Given the description of an element on the screen output the (x, y) to click on. 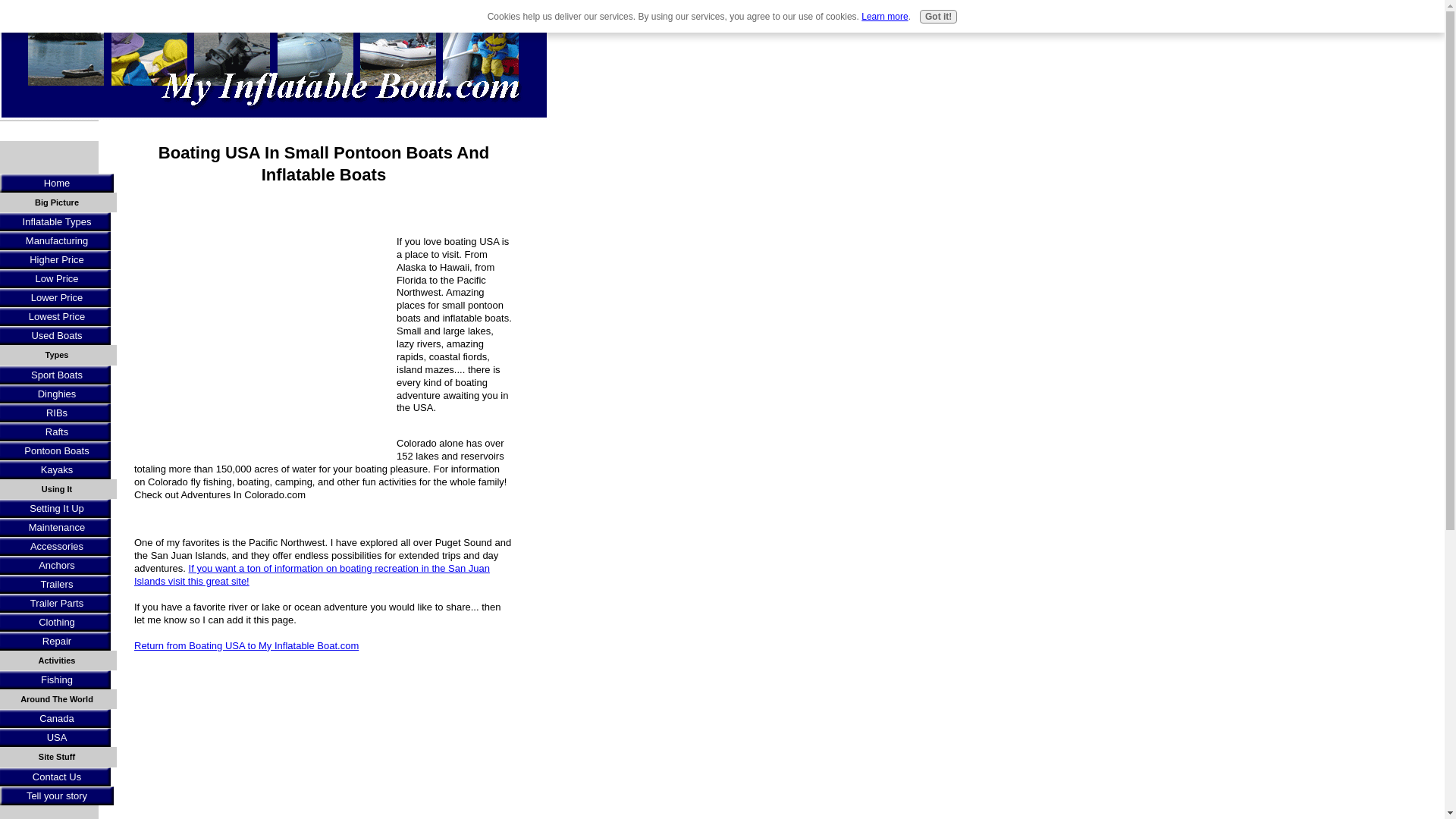
USA (58, 737)
Sport Boats (58, 374)
Home (56, 182)
Pontoon Boats (58, 450)
Return from Boating USA to My Inflatable Boat.com (245, 645)
Dinghies (58, 393)
Advertisement (260, 341)
RIBs (58, 412)
Tell your story (56, 795)
Got it! (938, 16)
